Given the description of an element on the screen output the (x, y) to click on. 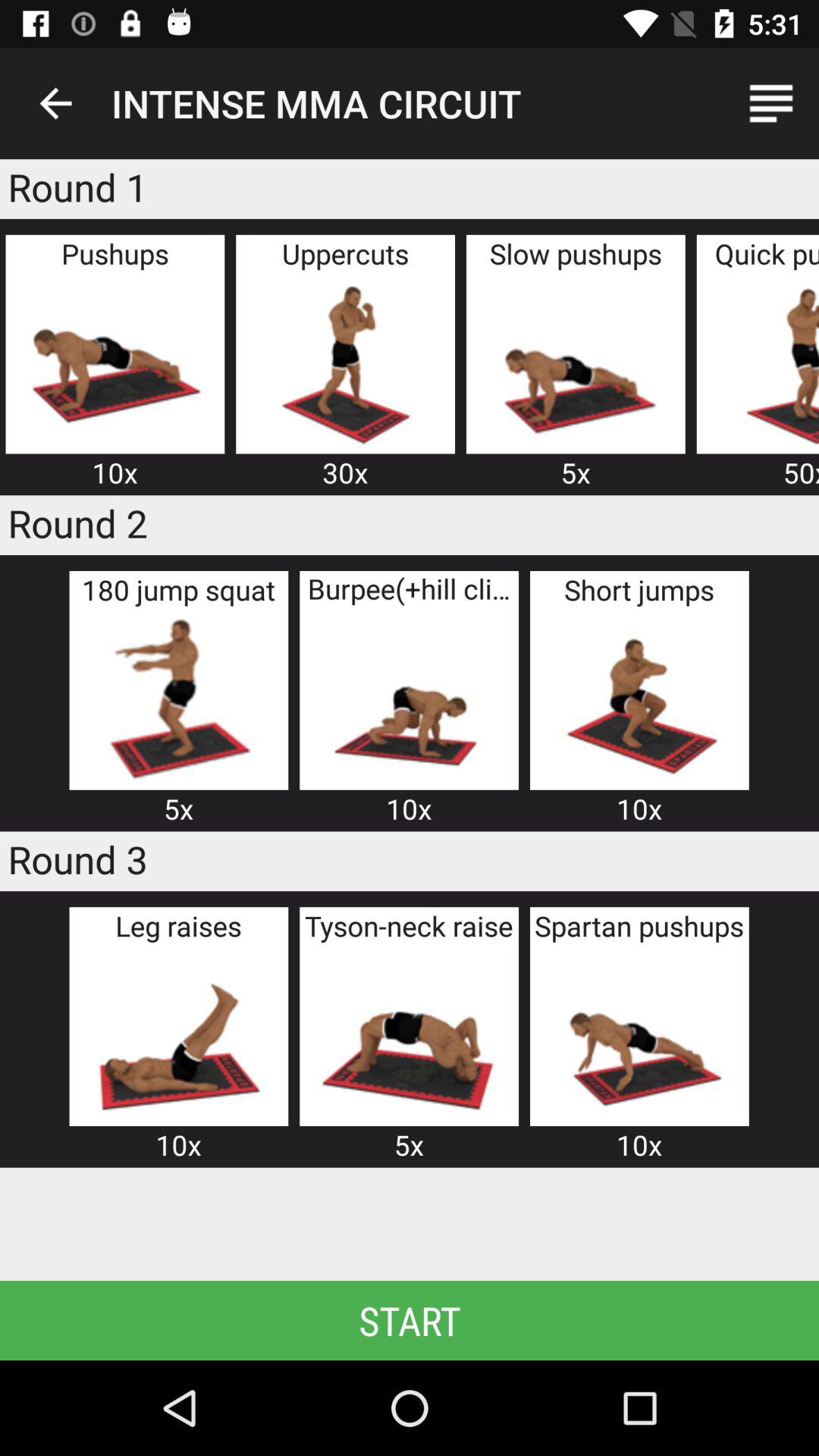
click to open (408, 698)
